Given the description of an element on the screen output the (x, y) to click on. 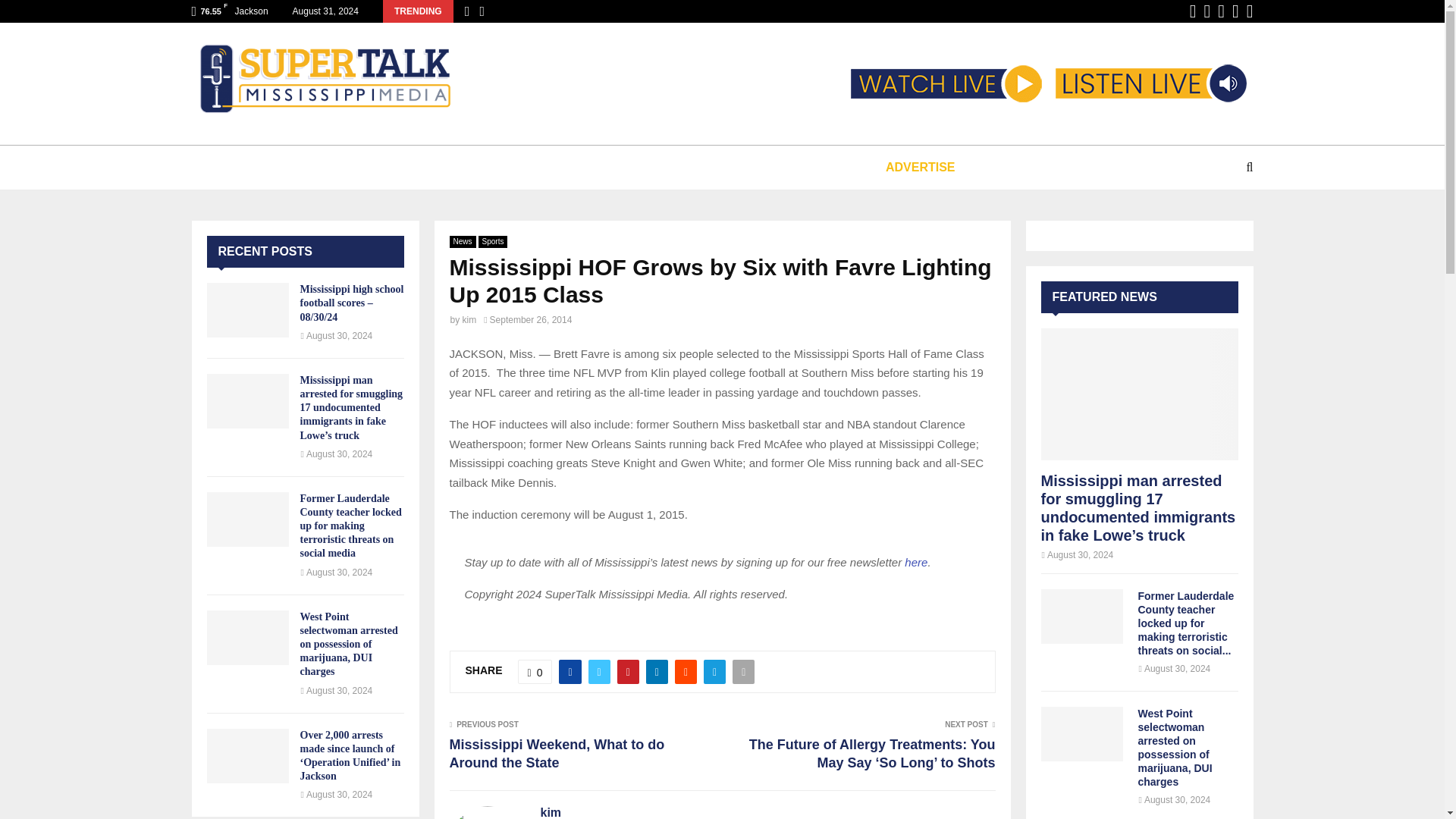
TUNE IN (255, 167)
SHOWS (430, 167)
Posts by kim (550, 812)
STATIONS (345, 167)
Like (535, 671)
